Given the description of an element on the screen output the (x, y) to click on. 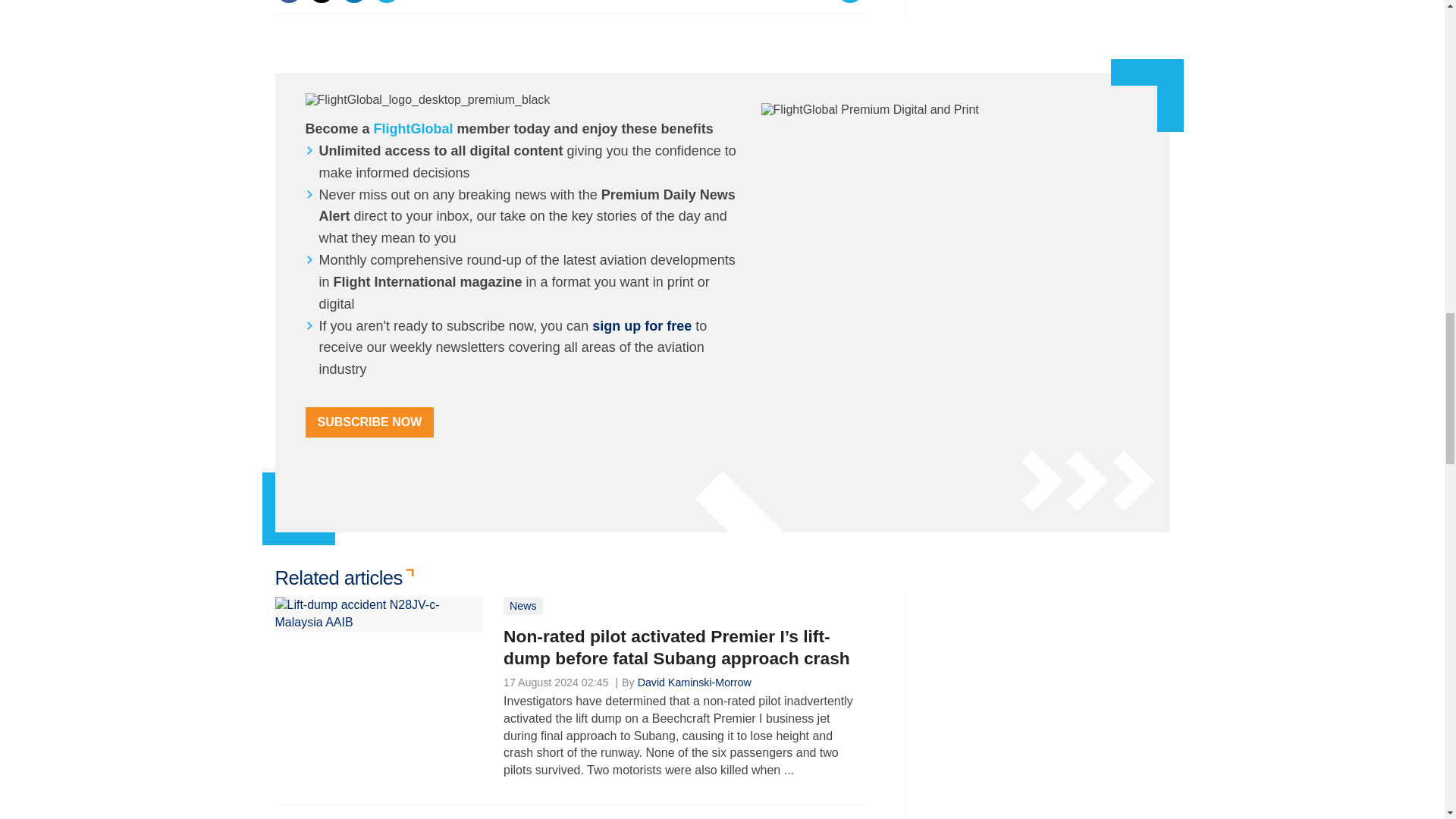
Email this article (386, 2)
Share this on Twitter (320, 2)
Share this on Facebook (288, 2)
Share this on Linked in (352, 2)
